Given the description of an element on the screen output the (x, y) to click on. 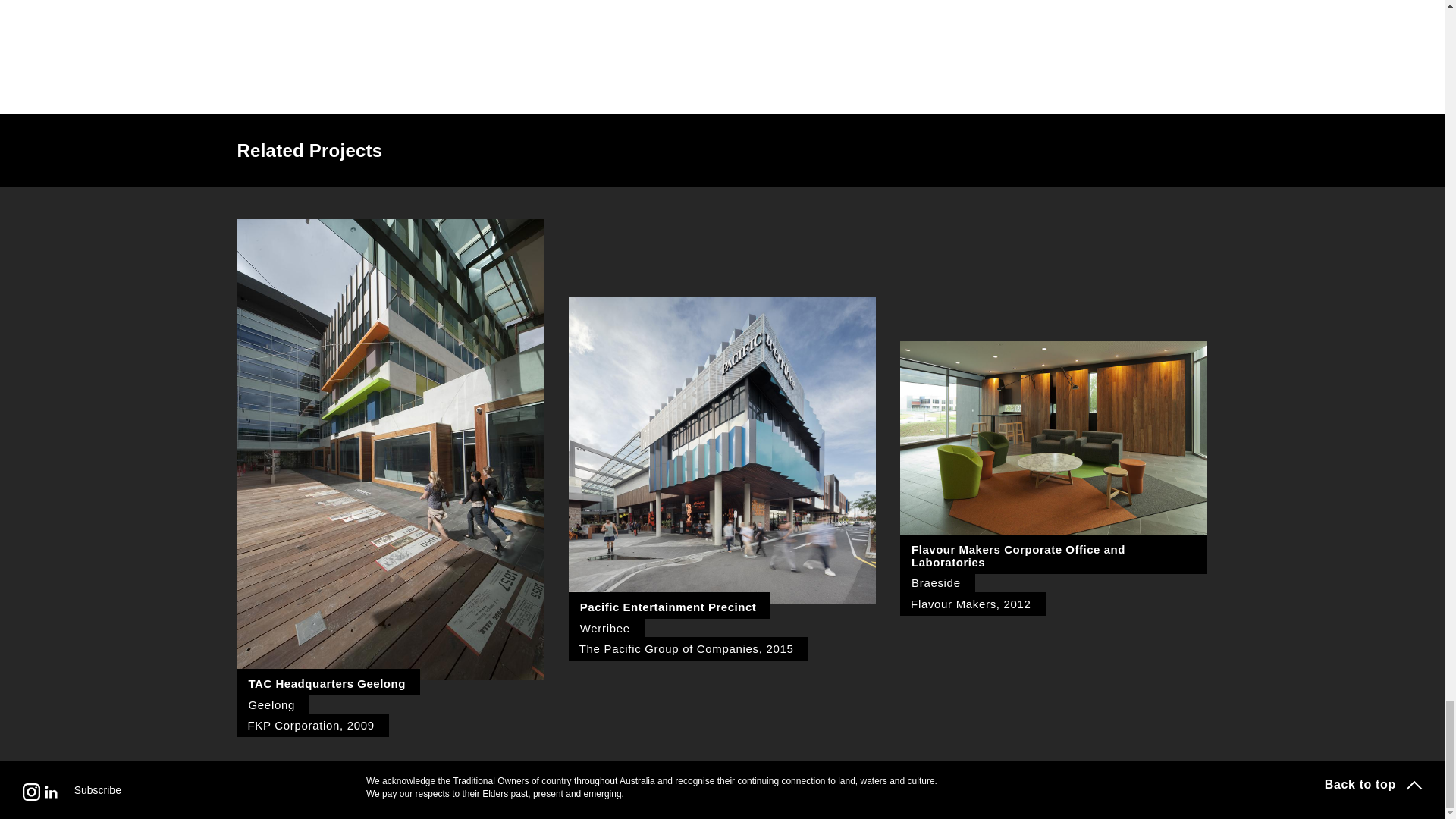
Back to top (1373, 784)
Subscribe (97, 786)
Back to top (1373, 784)
